Given the description of an element on the screen output the (x, y) to click on. 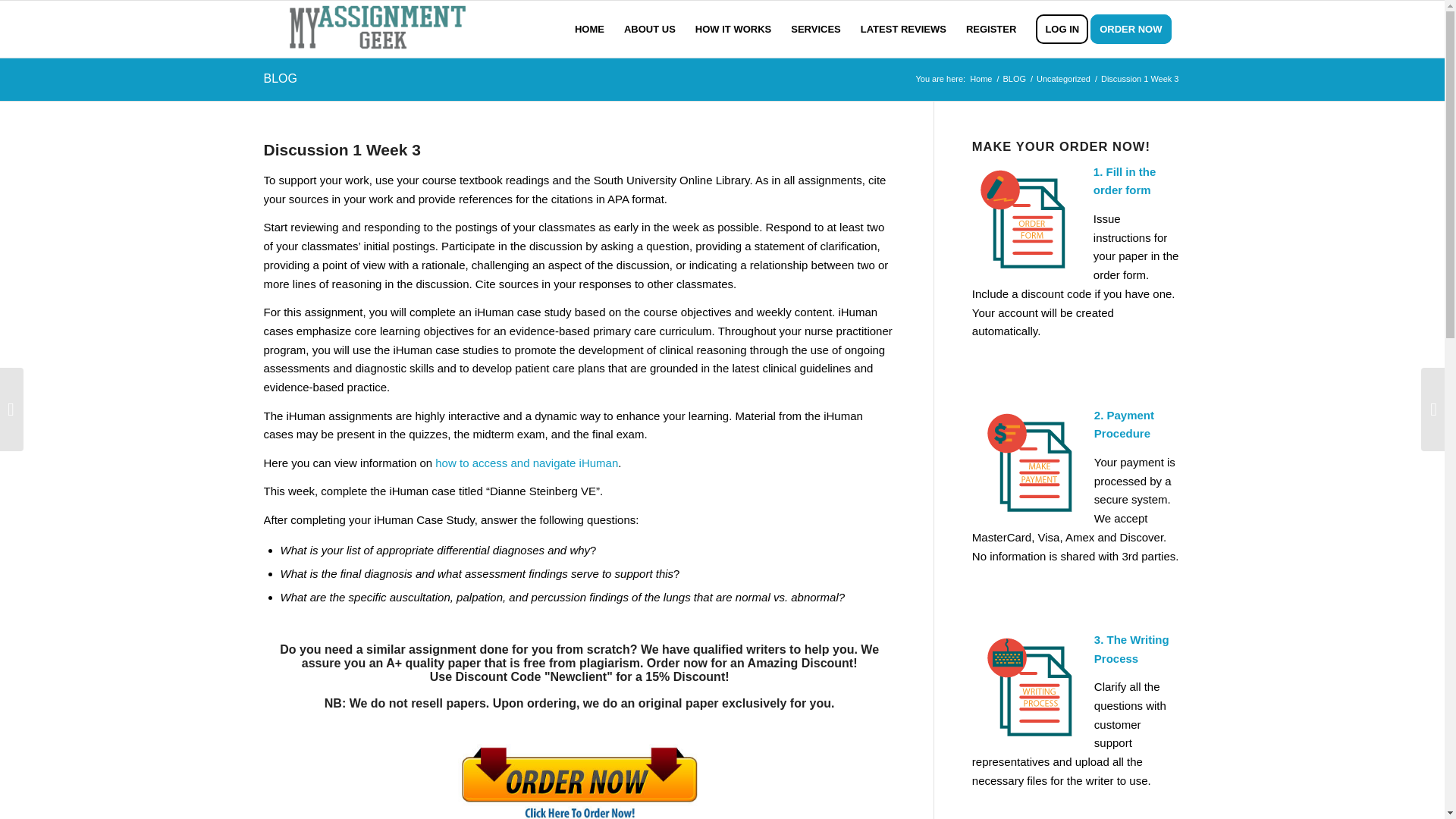
LATEST REVIEWS (903, 28)
BLOG (280, 78)
Discussion 1 Week 3 (341, 149)
LOG IN (1061, 28)
SERVICES (815, 28)
HOW IT WORKS (732, 28)
Uncategorized (1063, 79)
how to access and navigate iHuman (526, 462)
Permanent Link: BLOG (280, 78)
Permanent Link: Discussion 1 Week 3 (341, 149)
